Given the description of an element on the screen output the (x, y) to click on. 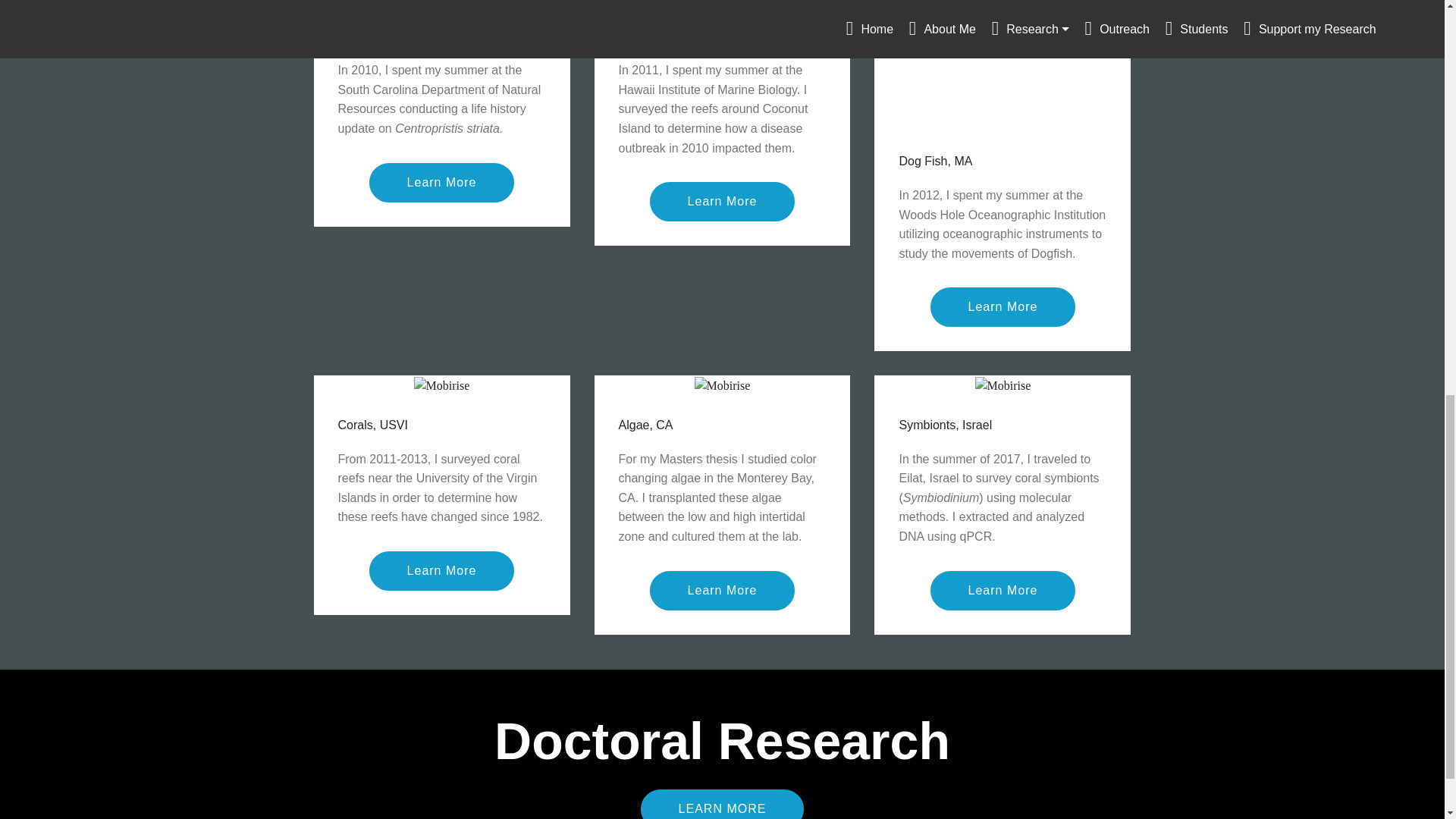
Learn More (721, 201)
Learn More (1002, 590)
Learn More (442, 182)
Learn More (721, 590)
Learn More (1002, 306)
LEARN MORE (722, 804)
Learn More (442, 570)
